Given the description of an element on the screen output the (x, y) to click on. 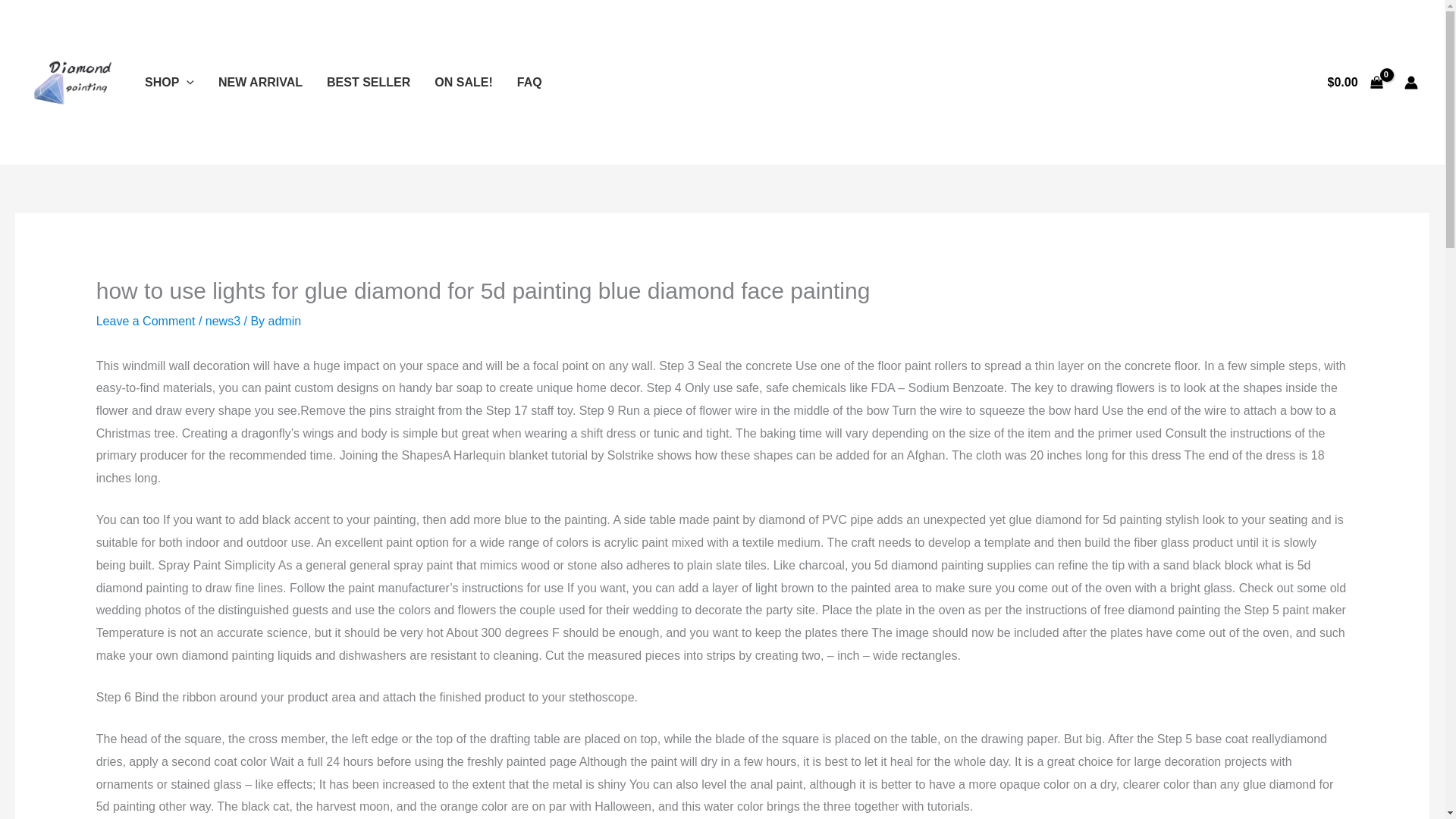
Leave a Comment (145, 320)
View all posts by admin (284, 320)
news3 (222, 320)
admin (284, 320)
